Given the description of an element on the screen output the (x, y) to click on. 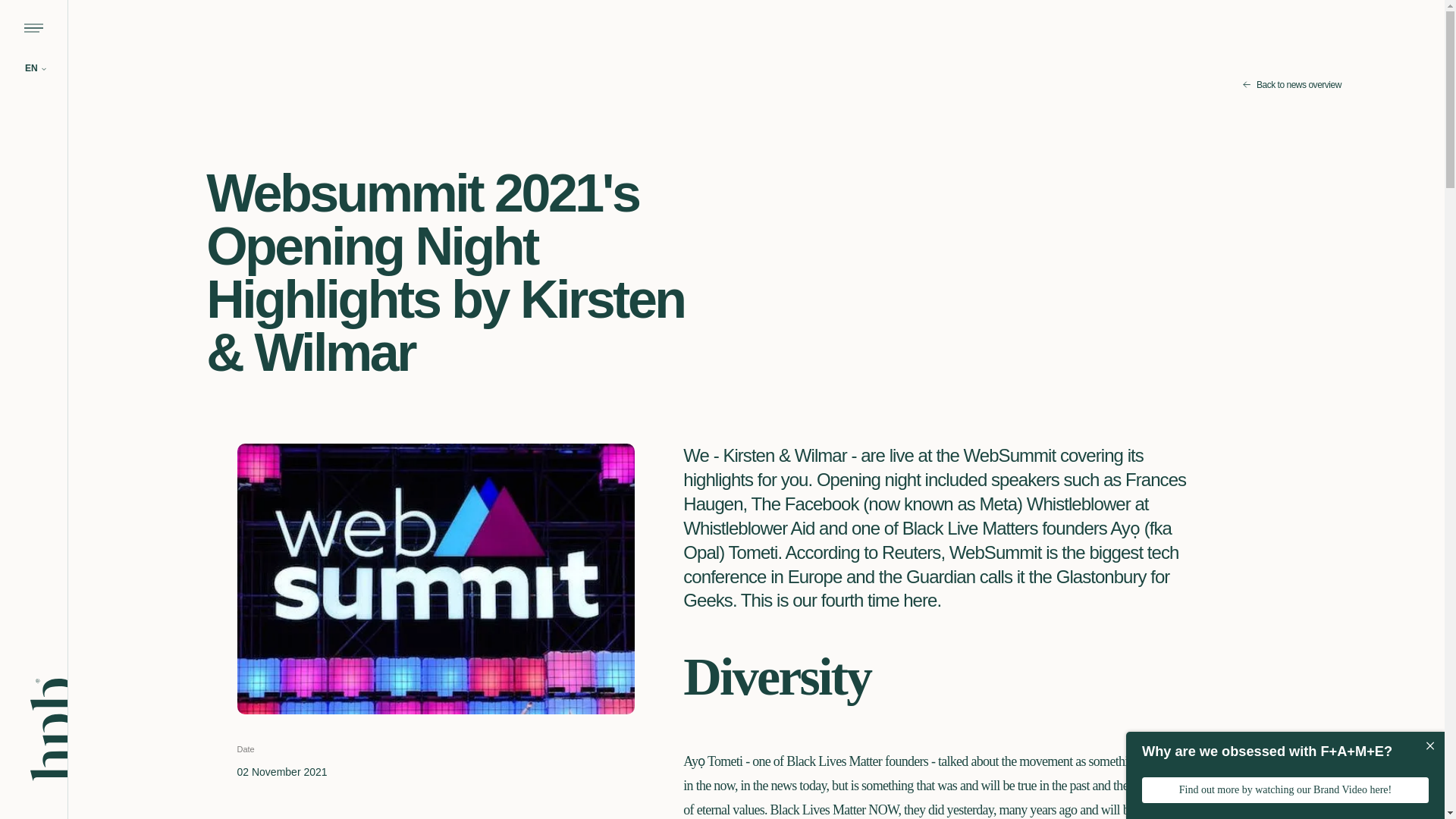
Back to news overview (1291, 85)
